Given the description of an element on the screen output the (x, y) to click on. 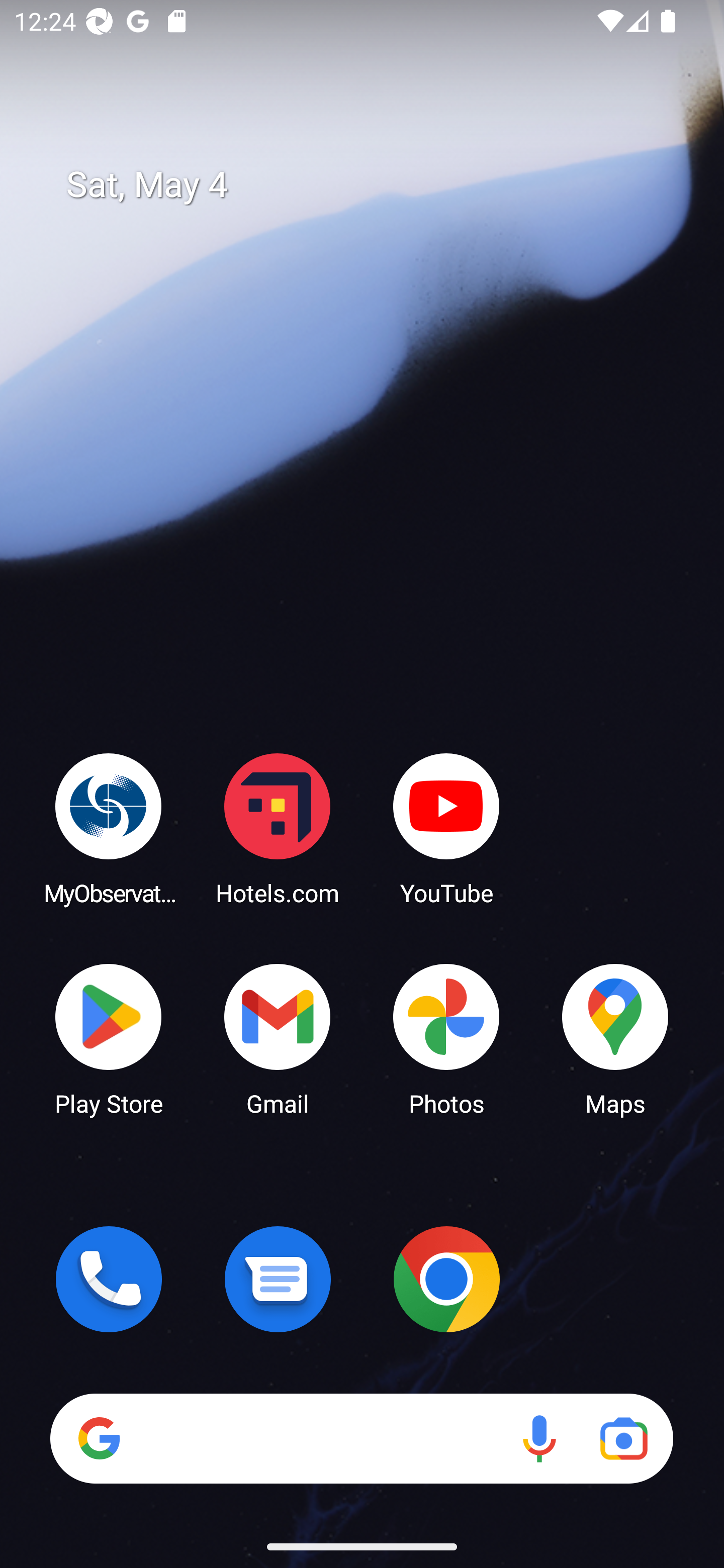
Sat, May 4 (375, 184)
MyObservatory (108, 828)
Hotels.com (277, 828)
YouTube (445, 828)
Play Store (108, 1038)
Gmail (277, 1038)
Photos (445, 1038)
Maps (615, 1038)
Phone (108, 1279)
Messages (277, 1279)
Chrome (446, 1279)
Search Voice search Google Lens (361, 1438)
Voice search (539, 1438)
Google Lens (623, 1438)
